Given the description of an element on the screen output the (x, y) to click on. 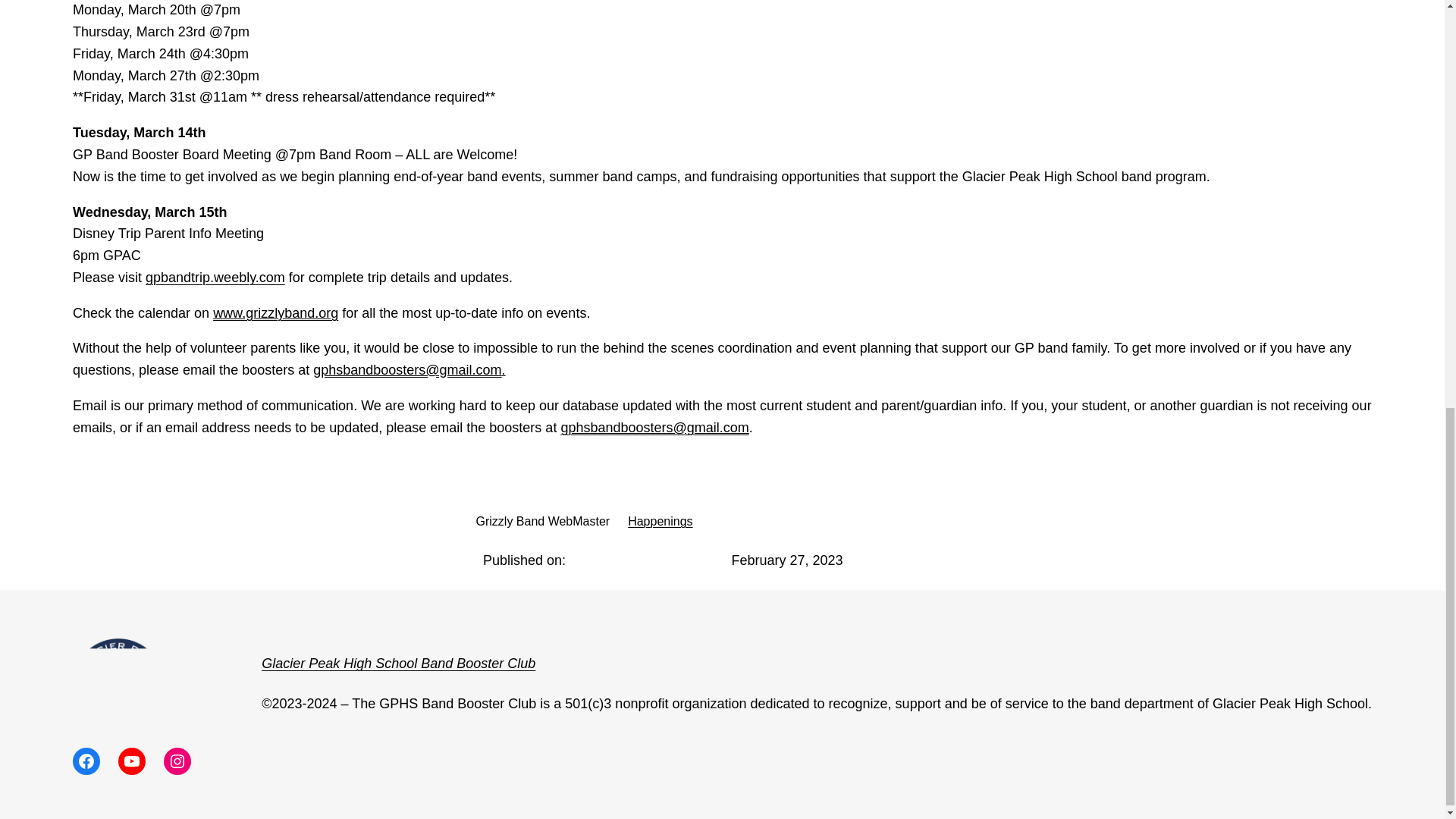
gpbandtrip.weebly.com (215, 277)
YouTube (131, 760)
www.grizzlyband.org (274, 313)
Glacier Peak High School Band Booster Club (398, 663)
Happenings (660, 521)
Facebook (86, 760)
Instagram (176, 760)
